Given the description of an element on the screen output the (x, y) to click on. 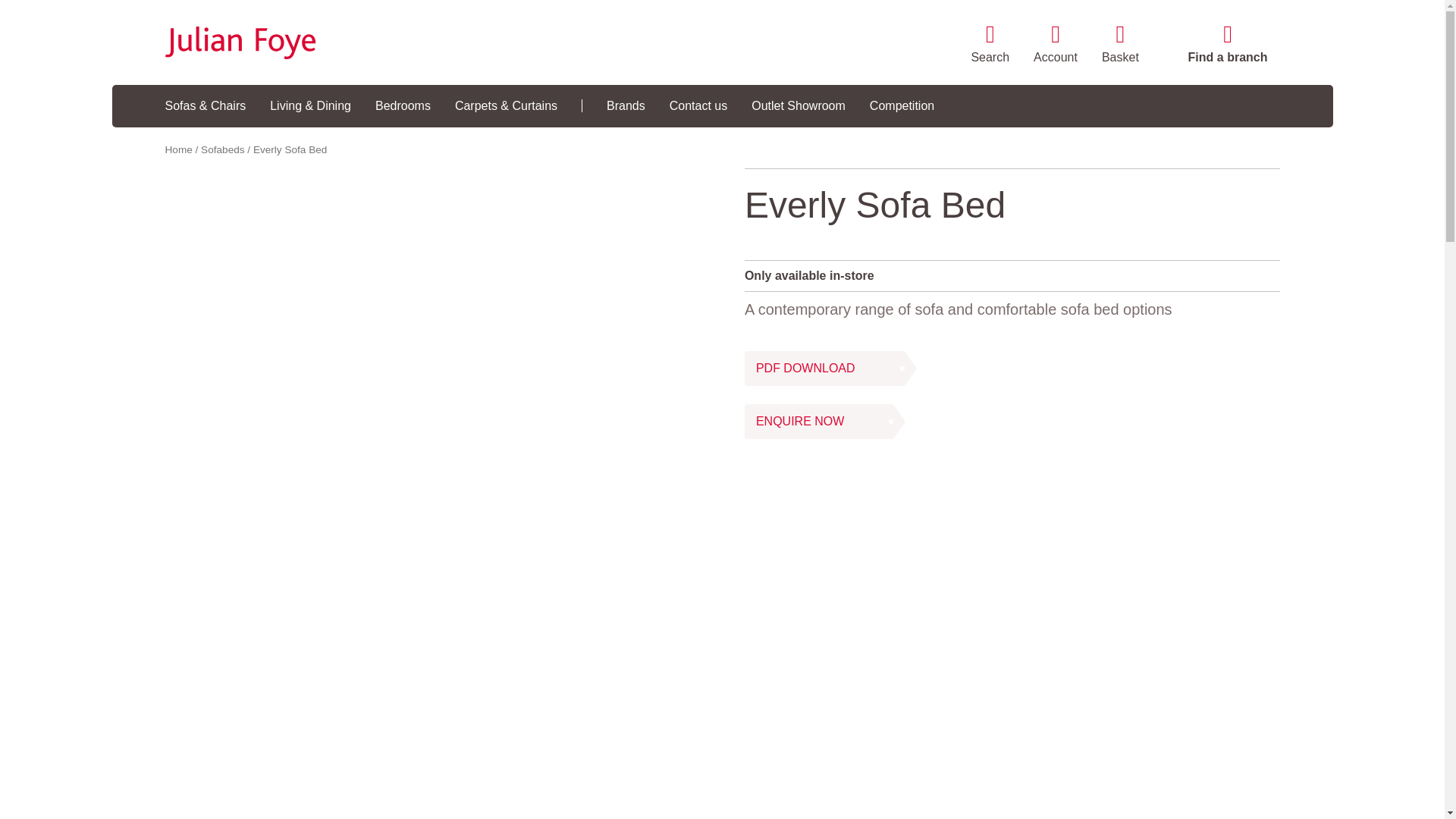
Search (990, 45)
Account (1055, 45)
Find a branch (1228, 45)
